Given the description of an element on the screen output the (x, y) to click on. 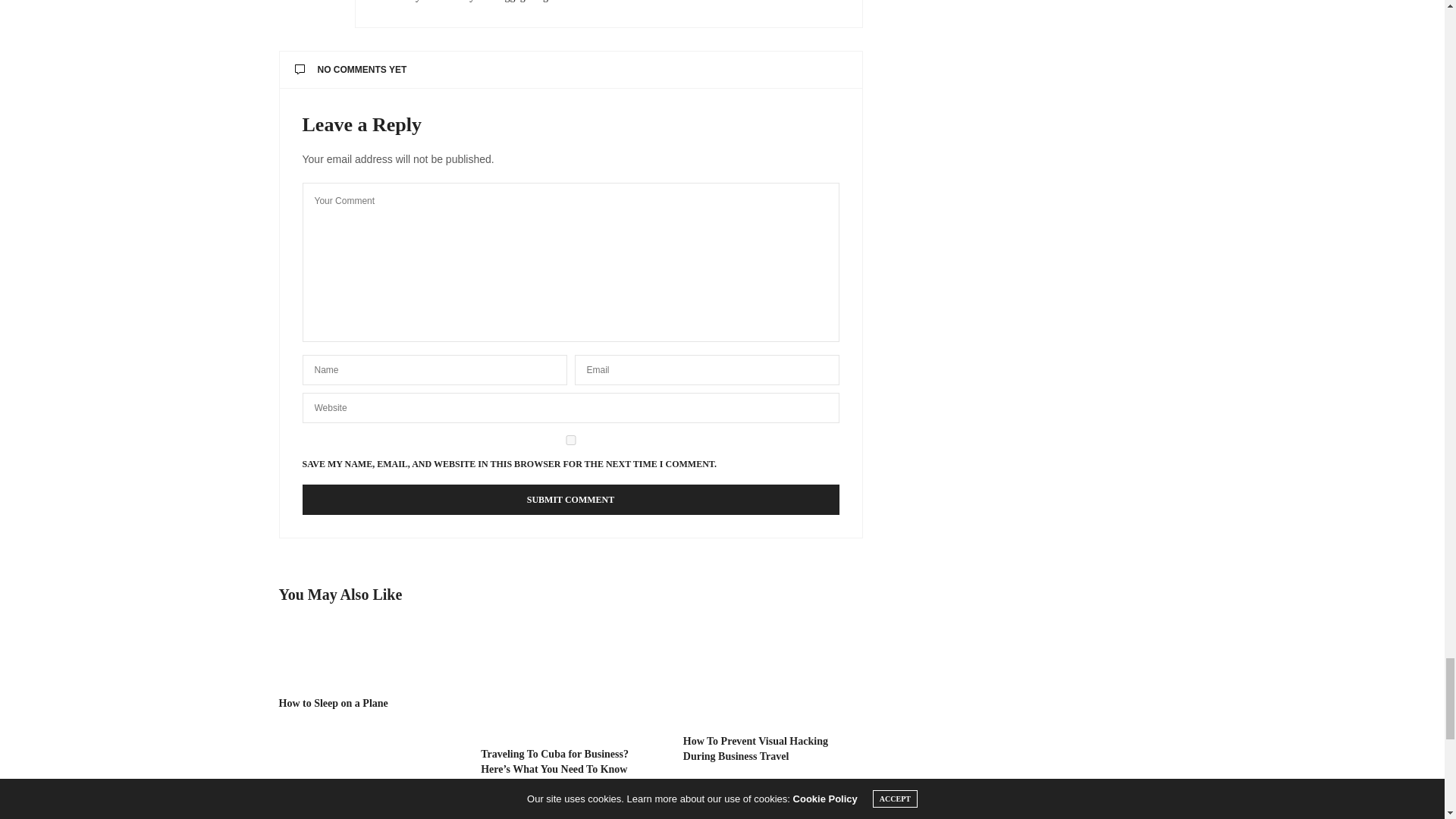
yes (569, 439)
How to Sleep on a Plane (368, 655)
Submit Comment (569, 499)
